Given the description of an element on the screen output the (x, y) to click on. 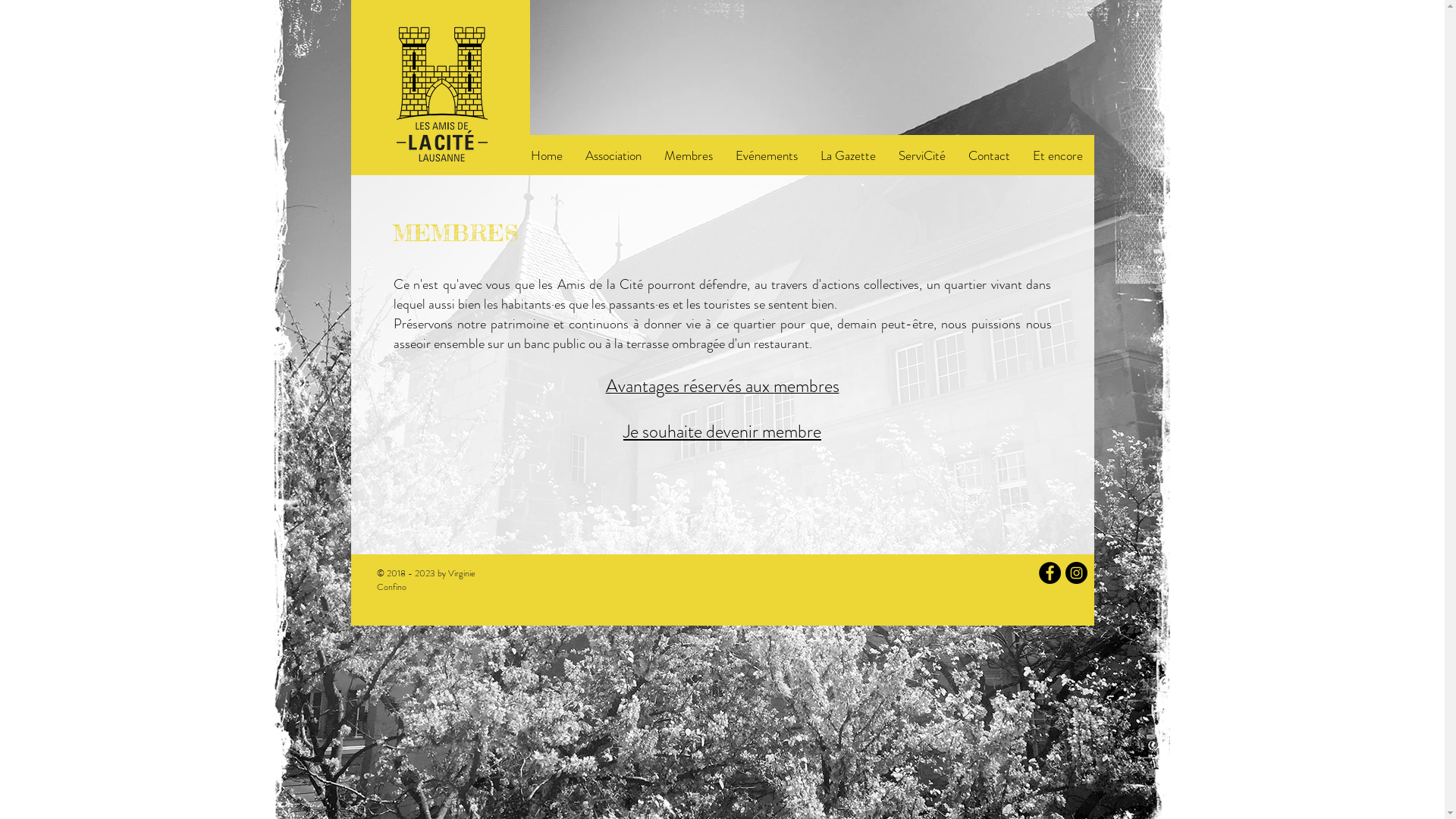
Home Element type: text (546, 155)
Association Element type: text (613, 155)
Contact Element type: text (989, 155)
Membres Element type: text (688, 155)
Je souhaite devenir membre Element type: text (722, 430)
La Gazette Element type: text (848, 155)
